Given the description of an element on the screen output the (x, y) to click on. 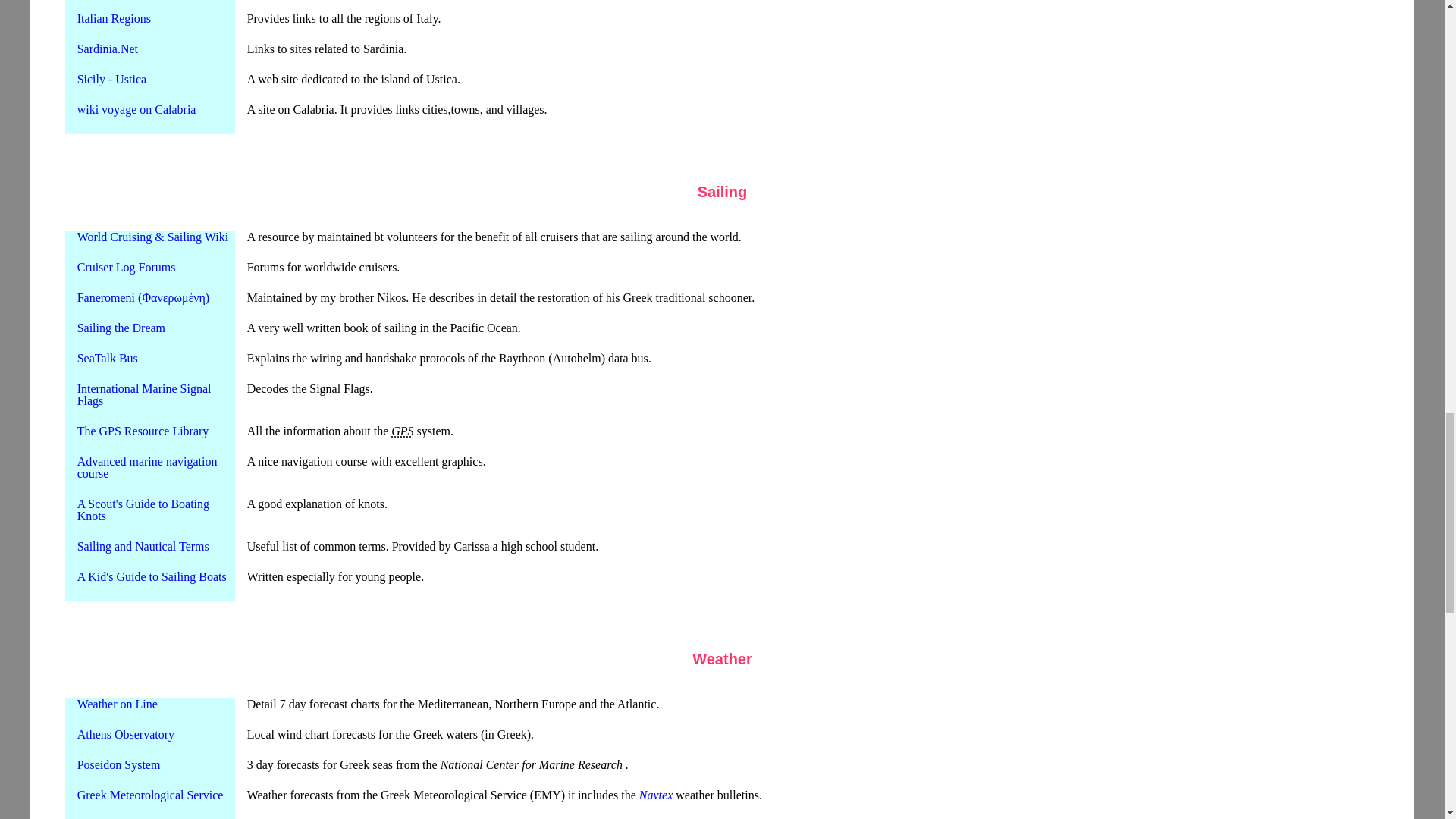
lobal Positioning System (402, 431)
Sicily - Ustica (112, 78)
Sardinia.Net (107, 48)
Italian Regions (114, 18)
